Given the description of an element on the screen output the (x, y) to click on. 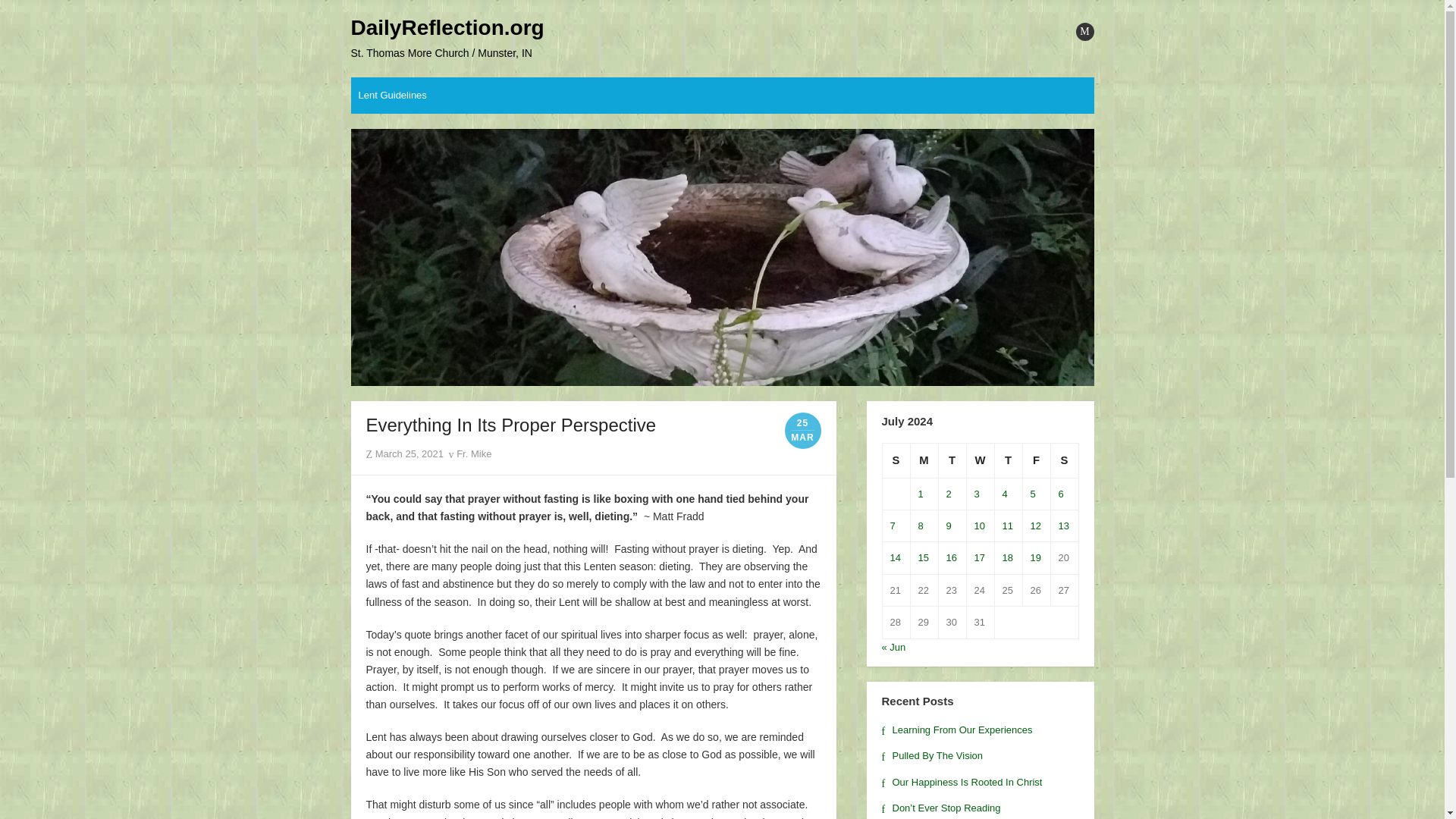
16 (951, 557)
18 (1008, 557)
15 (922, 557)
rss (1084, 31)
Learning From Our Experiences (956, 729)
March 25, 2021 (409, 453)
DailyReflection.org (446, 27)
11 (1008, 525)
17 (979, 557)
Lent Guidelines (391, 94)
12 (1035, 525)
19 (1035, 557)
13 (1063, 525)
Pulled By The Vision (930, 755)
